Given the description of an element on the screen output the (x, y) to click on. 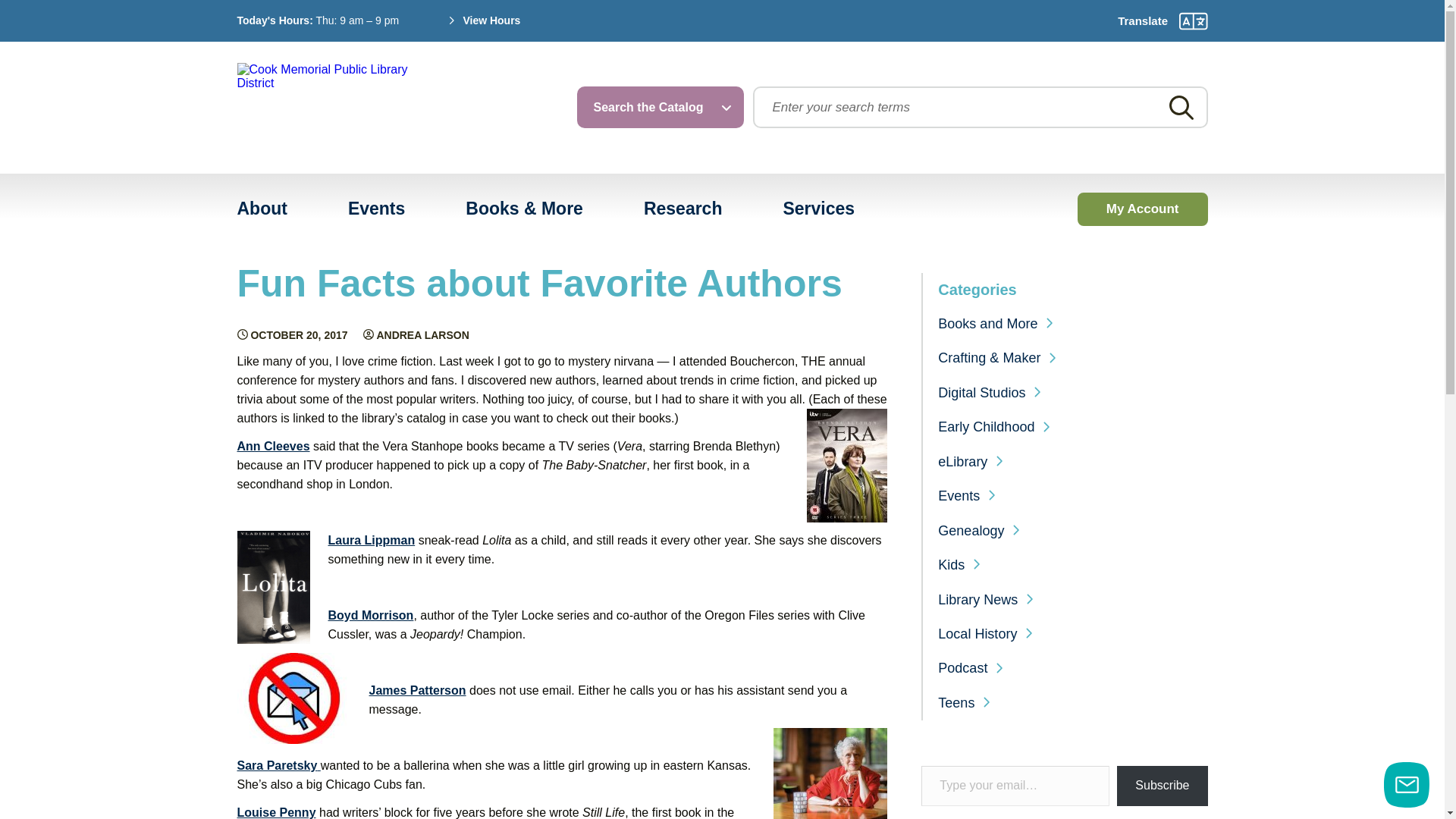
About (261, 209)
Events (376, 209)
Please fill in this field. (1015, 785)
